Given the description of an element on the screen output the (x, y) to click on. 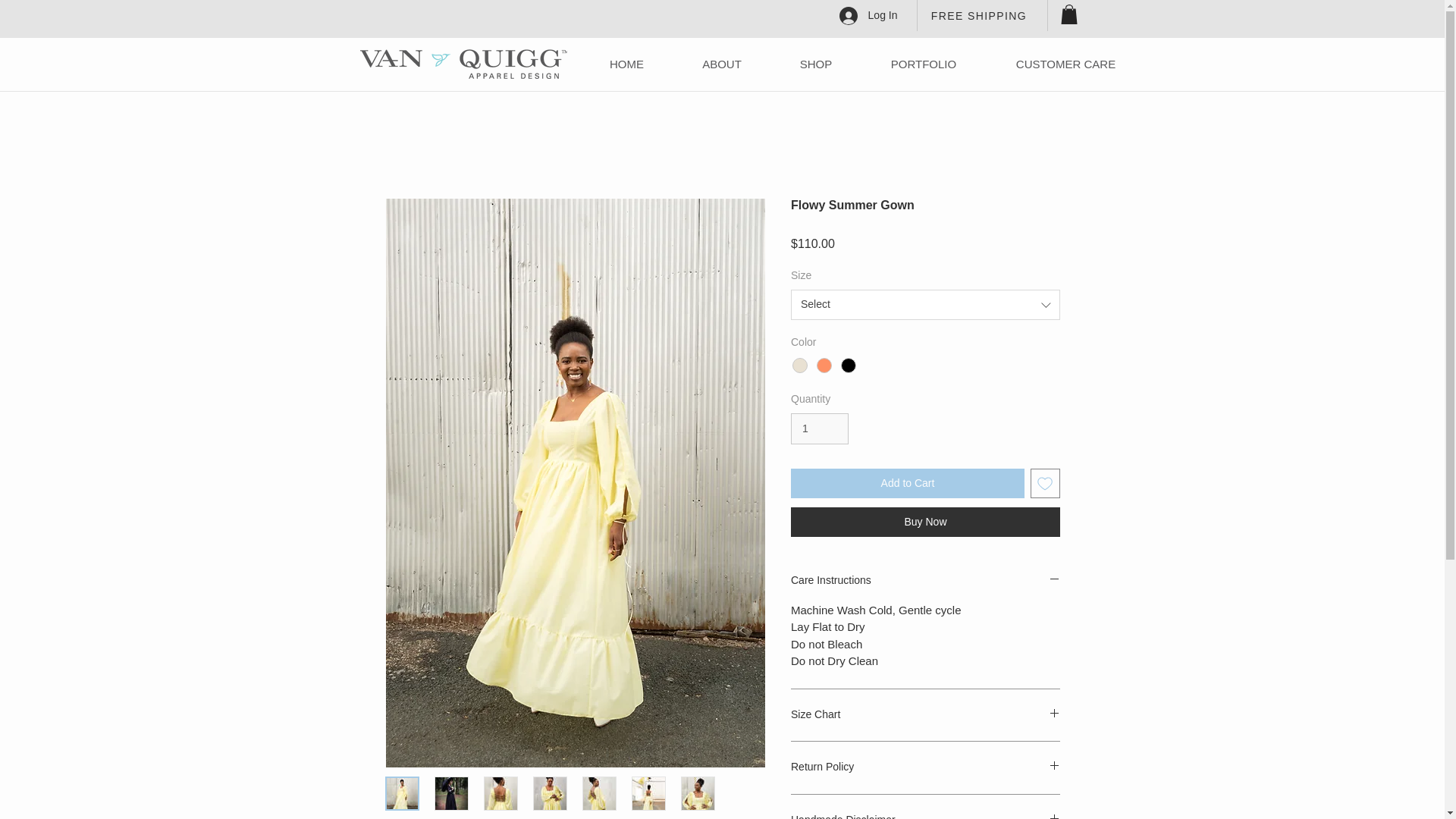
PORTFOLIO (924, 63)
CUSTOMER CARE (1064, 63)
Log In (868, 15)
Select (924, 304)
Add to Cart (907, 482)
ABOUT (721, 63)
Handmade Disclaimer (924, 816)
Buy Now (924, 521)
Care Instructions (924, 580)
HOME (626, 63)
Return Policy (924, 767)
Size Chart (924, 715)
1 (819, 428)
